Given the description of an element on the screen output the (x, y) to click on. 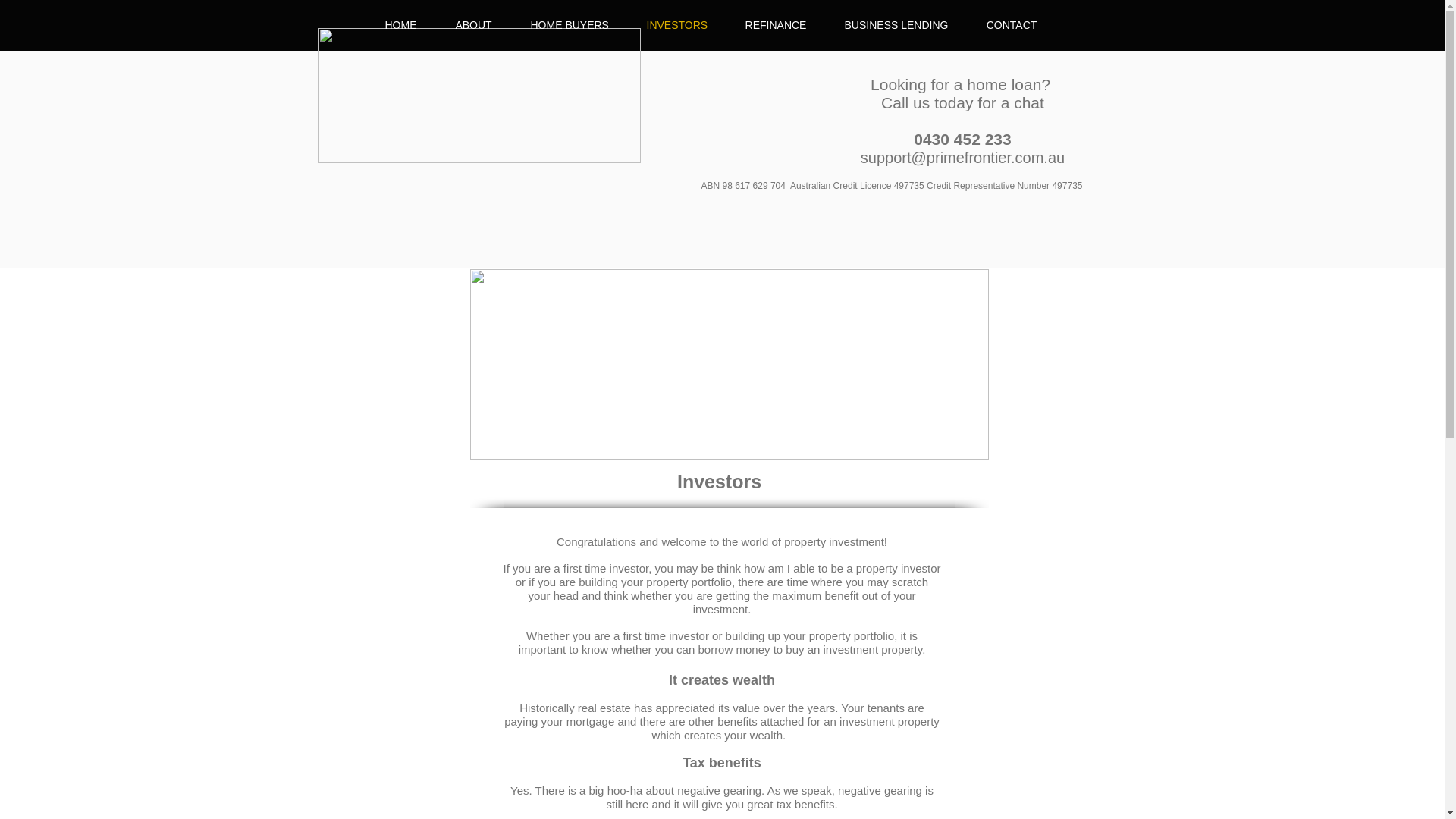
INVESTORS (676, 24)
CONTACT (1012, 24)
0430 452 233 (962, 139)
ABOUT (473, 24)
HOME BUYERS (569, 24)
REFINANCE (775, 24)
BUSINESS LENDING (895, 24)
Looking for an Investment NEW.jpg (729, 364)
HOME (400, 24)
